Given the description of an element on the screen output the (x, y) to click on. 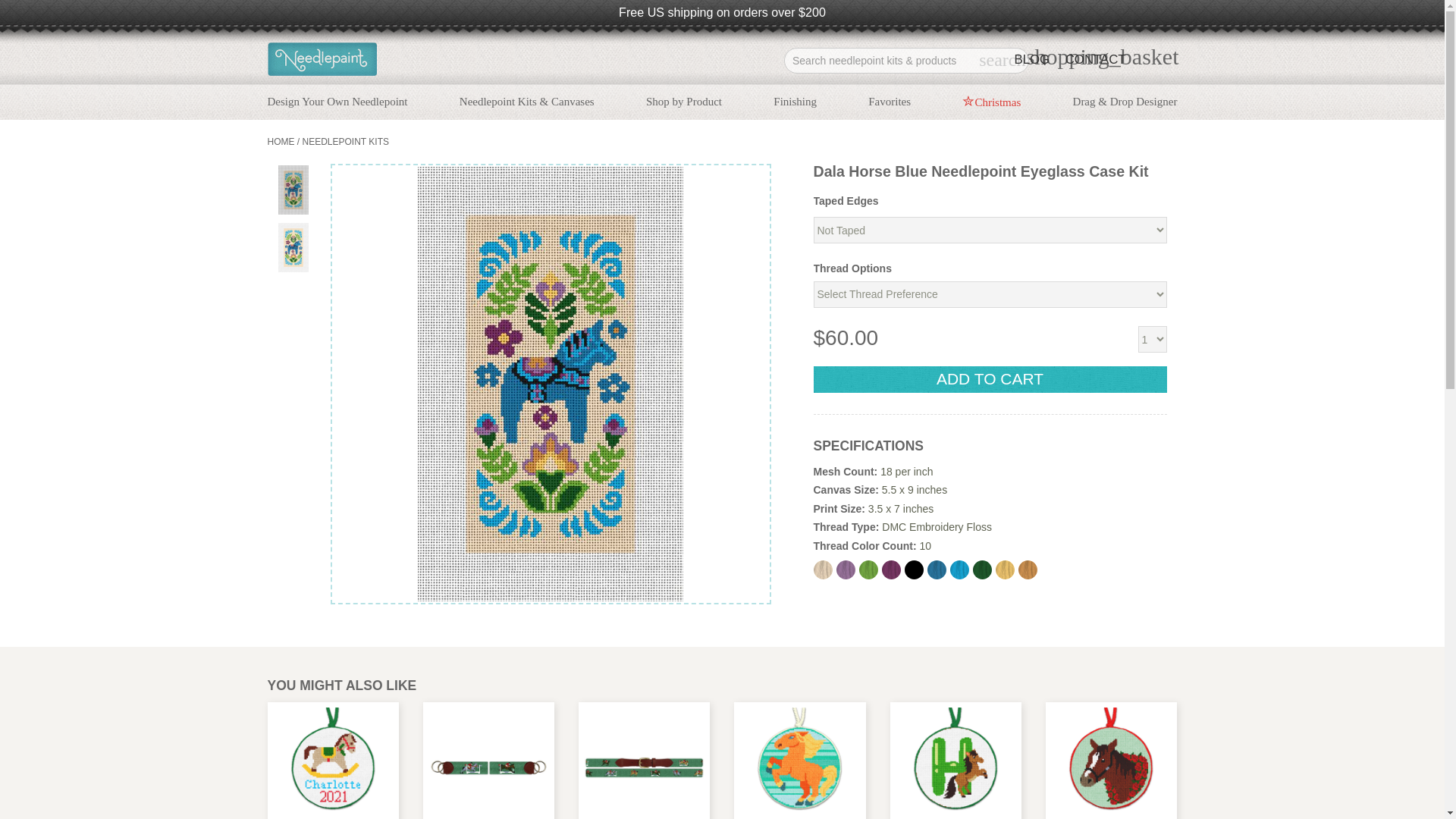
Needlepoint Christmas Ornament Kits (1032, 132)
Needlepoint Collections (527, 131)
Needlepoint Kit From Photo (343, 131)
Design Your Own Needlepoint (336, 99)
Your Cart (1101, 56)
search (1001, 59)
Custom Needlepoint Belt (354, 131)
Needlepoint Finishing Services (794, 99)
Needlepoint Products (684, 99)
Needlepaint (321, 60)
Contact (1095, 60)
Custom Needlepoint Kit (343, 131)
Personalized Ornament Kits (671, 131)
Belt Builder (354, 131)
Custom Needlepoint Kit (336, 99)
